Given the description of an element on the screen output the (x, y) to click on. 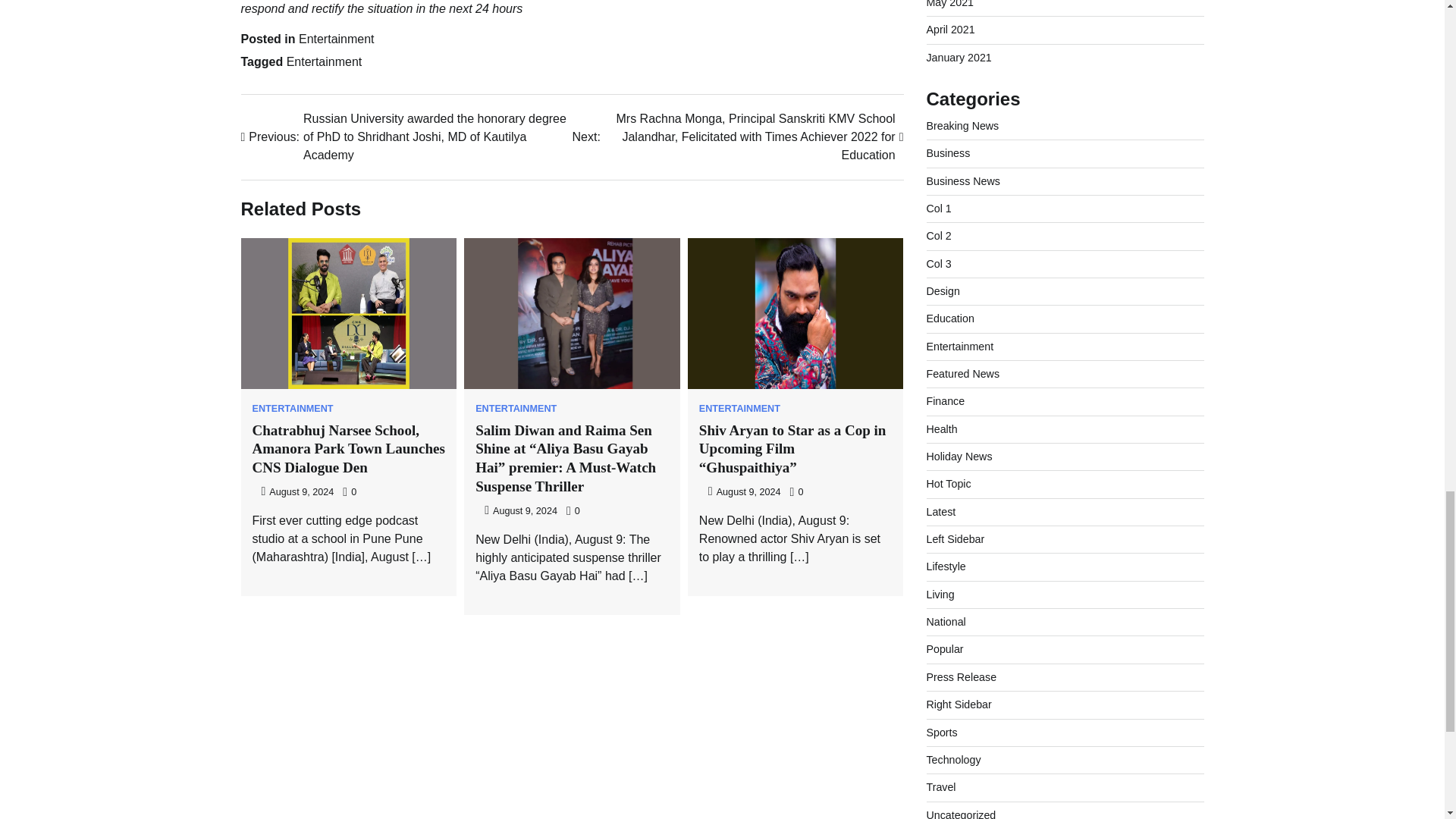
ENTERTAINMENT (739, 409)
Entertainment (336, 38)
ENTERTAINMENT (292, 409)
Entertainment (324, 61)
ENTERTAINMENT (516, 409)
